Given the description of an element on the screen output the (x, y) to click on. 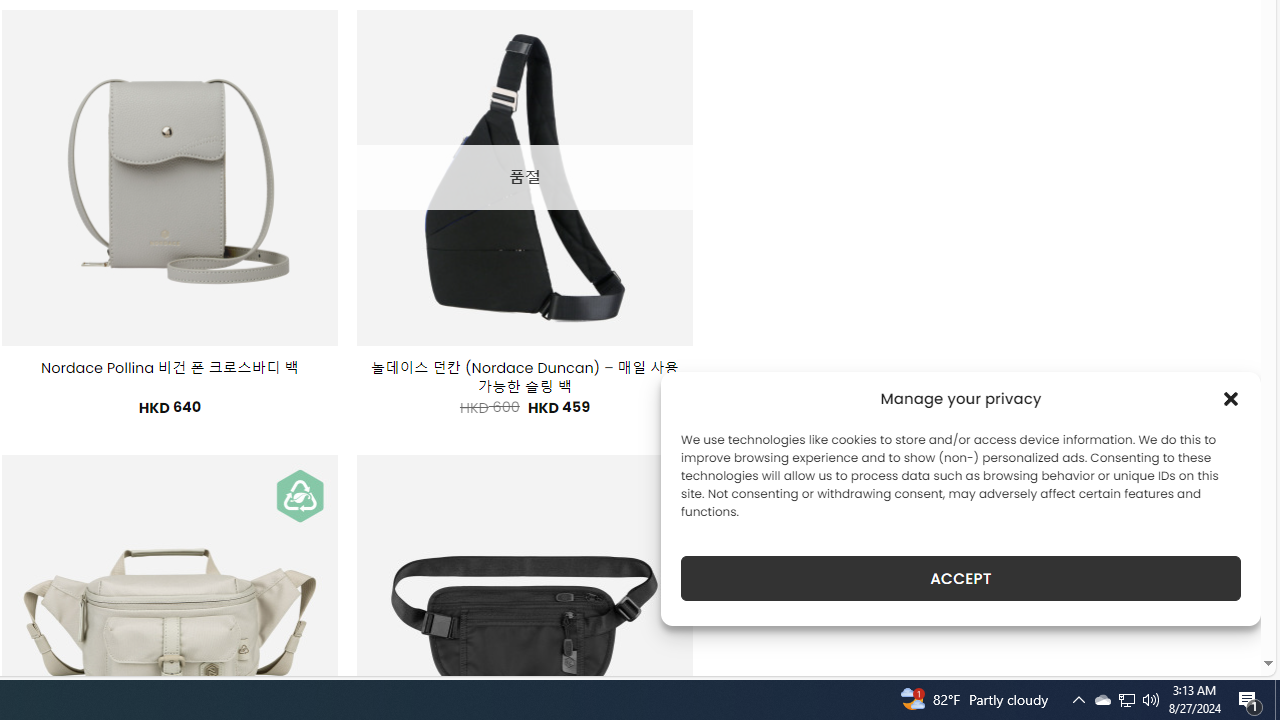
ACCEPT (960, 578)
Class: cmplz-close (1231, 398)
